Given the description of an element on the screen output the (x, y) to click on. 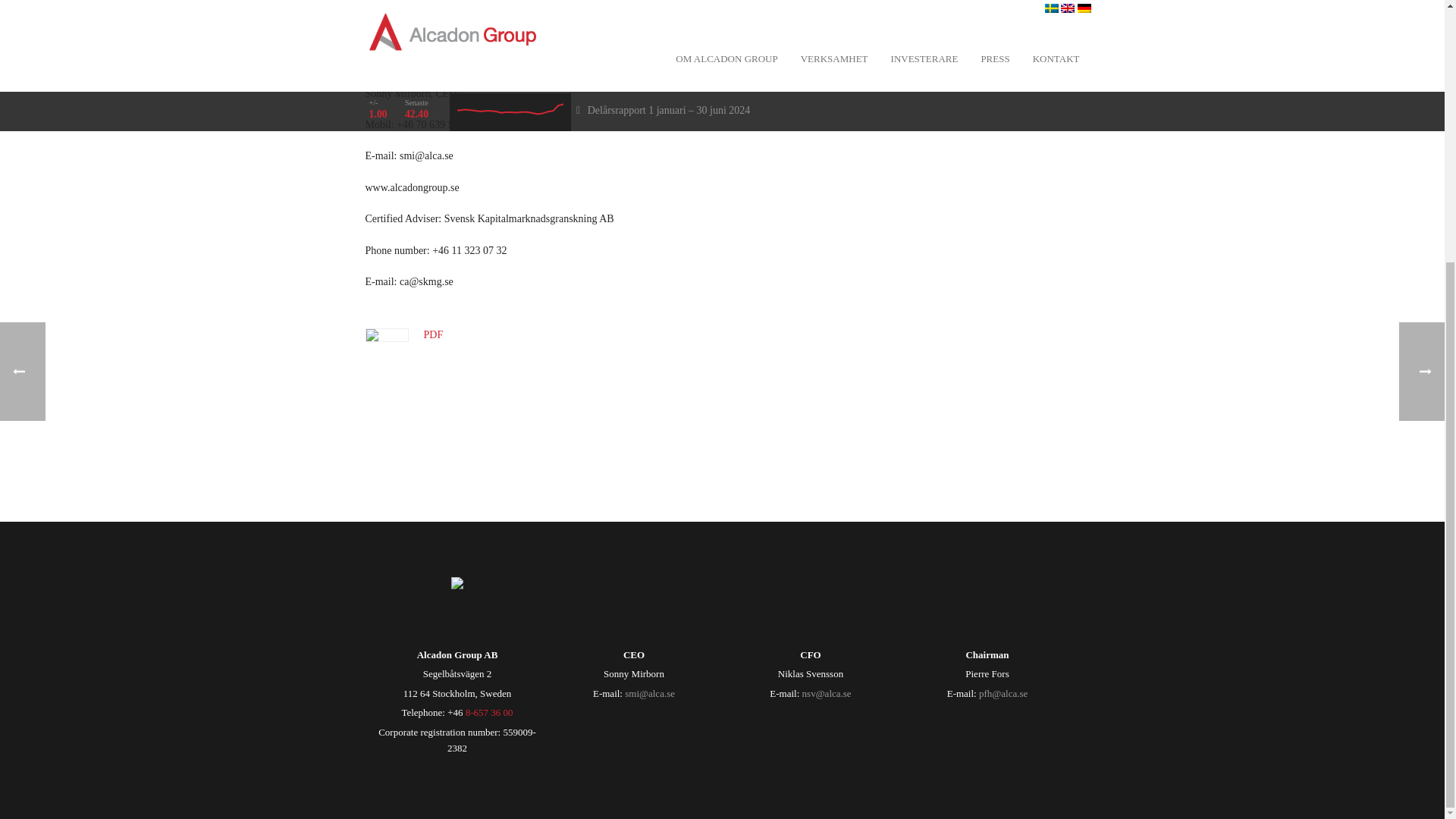
Linkedin (377, 437)
Twitter (482, 437)
E-post (412, 437)
Facebook (447, 437)
